Given the description of an element on the screen output the (x, y) to click on. 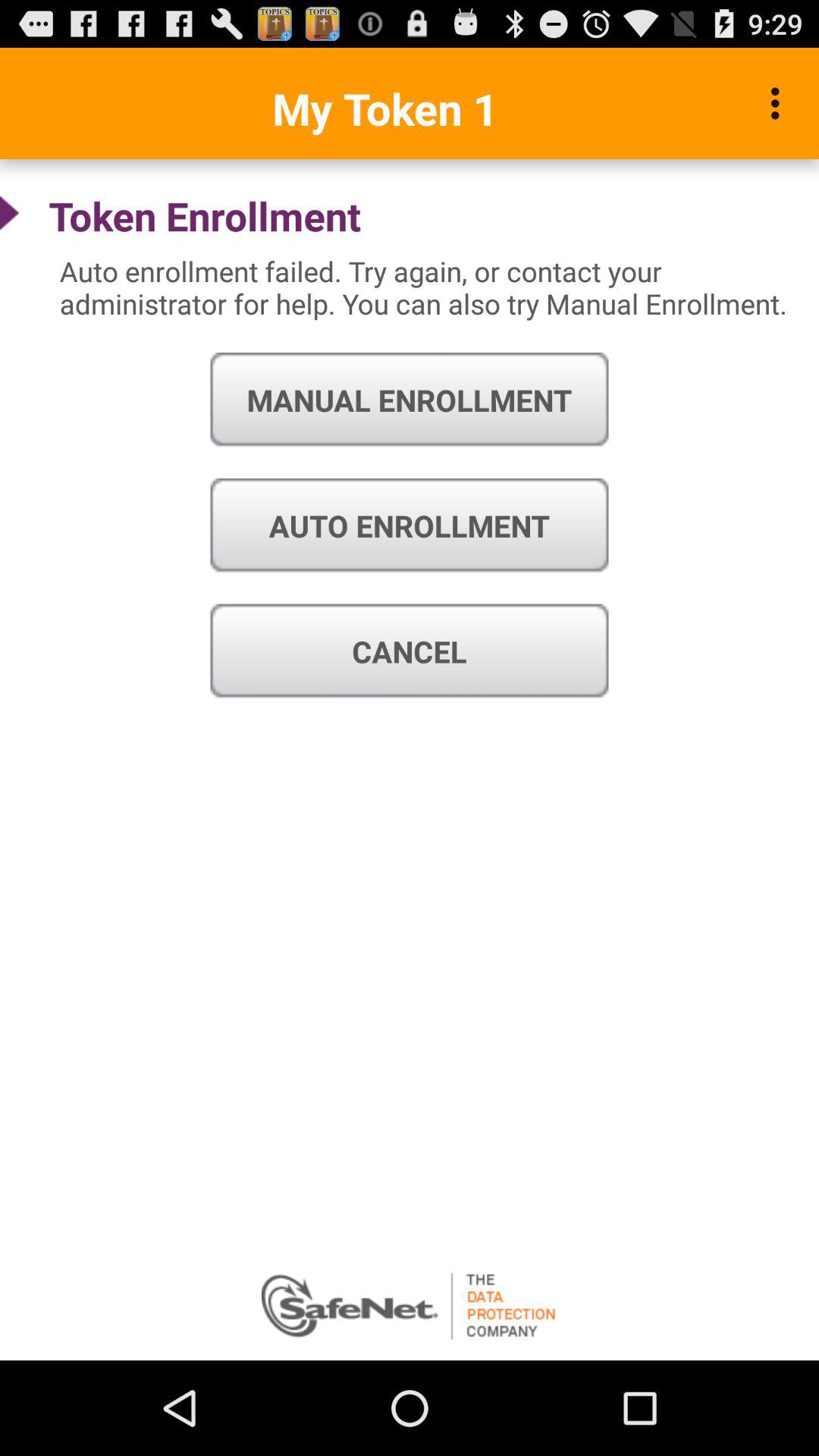
press cancel icon (409, 651)
